Given the description of an element on the screen output the (x, y) to click on. 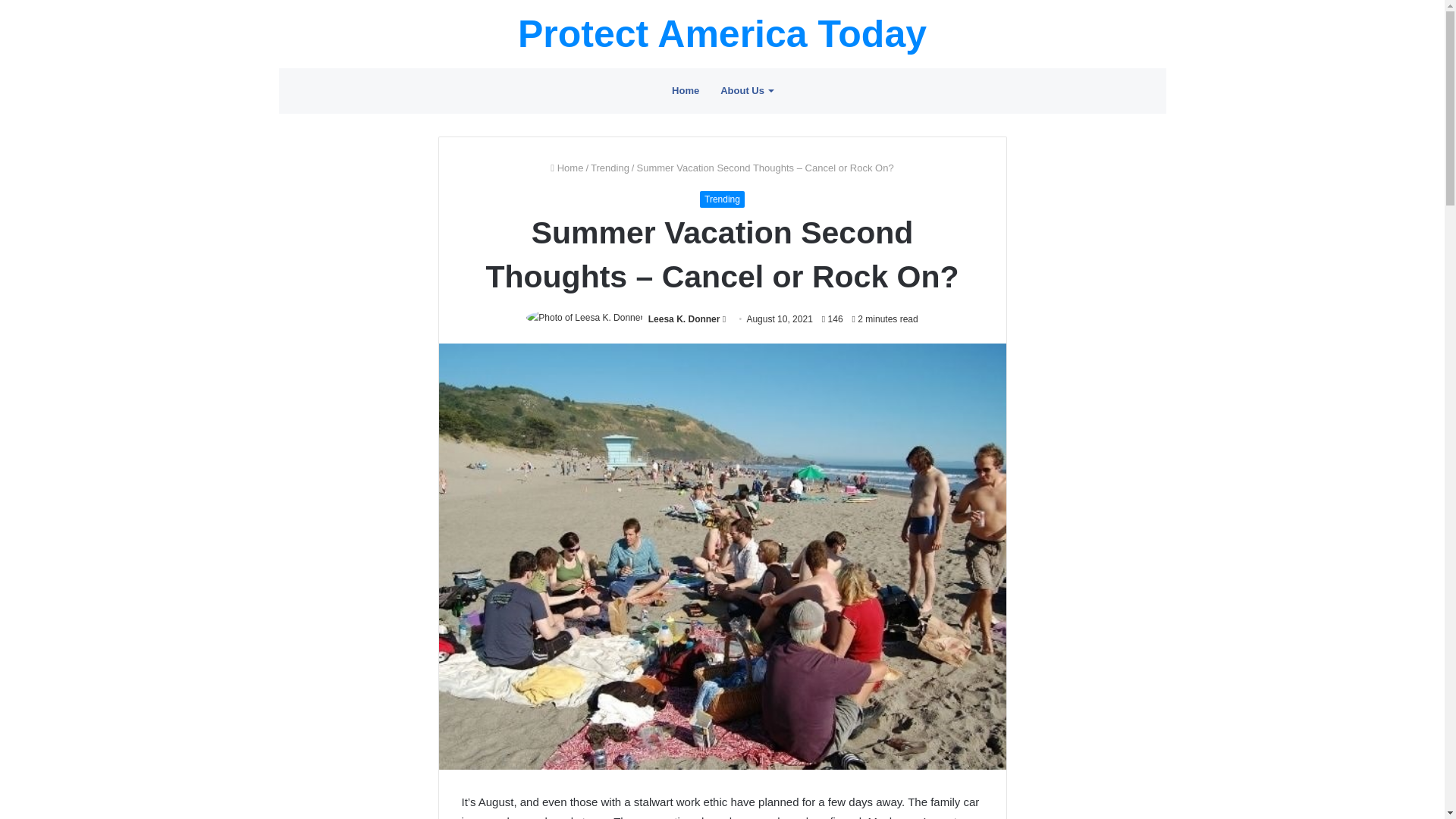
Leesa K. Donner (683, 318)
Protect America Today (722, 34)
Leesa K. Donner (683, 318)
About Us (746, 90)
Home (566, 167)
Protect America Today (722, 34)
Trending (609, 167)
Home (685, 90)
Trending (722, 199)
